Given the description of an element on the screen output the (x, y) to click on. 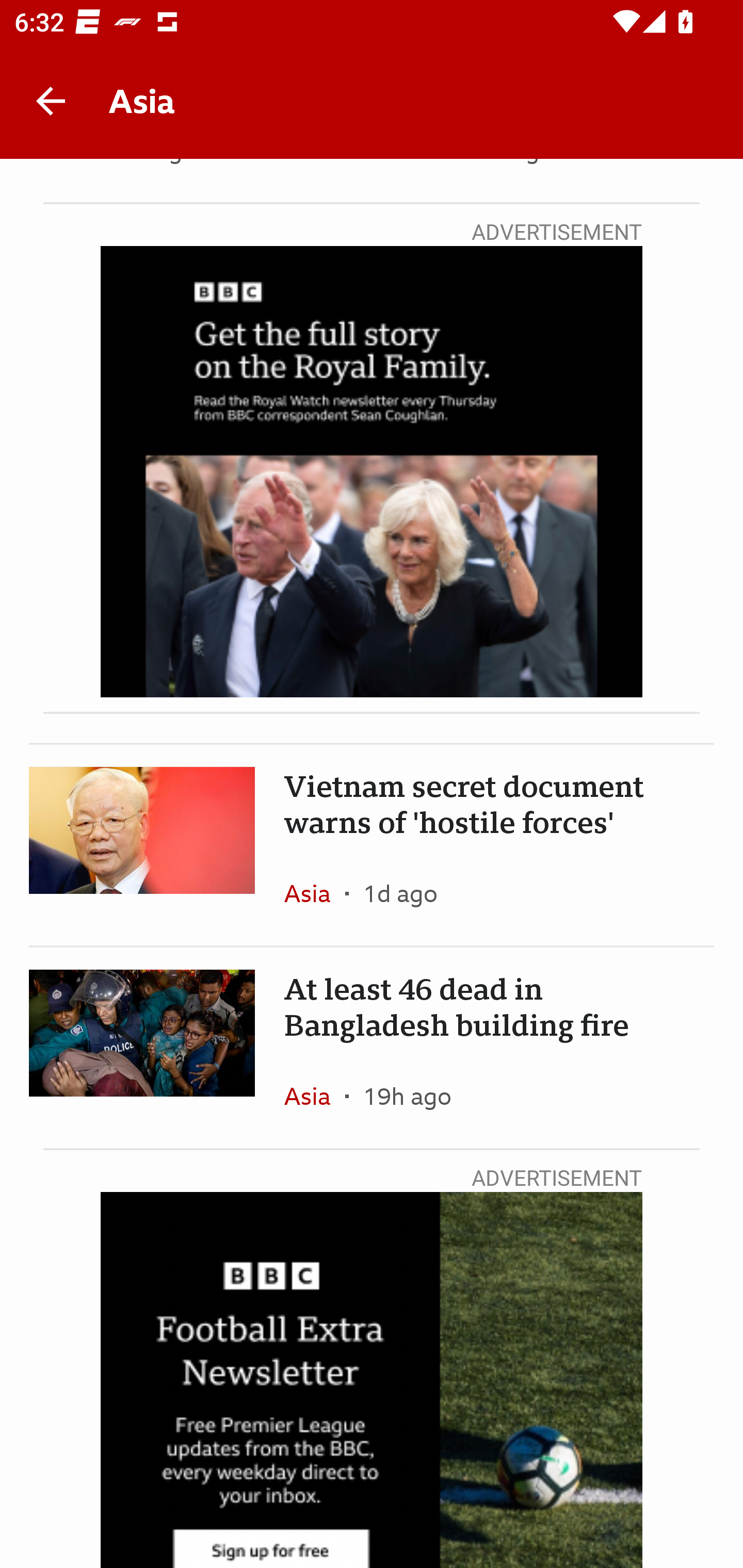
Back (50, 101)
Asia In the section Asia (314, 893)
Asia In the section Asia (314, 1095)
